Given the description of an element on the screen output the (x, y) to click on. 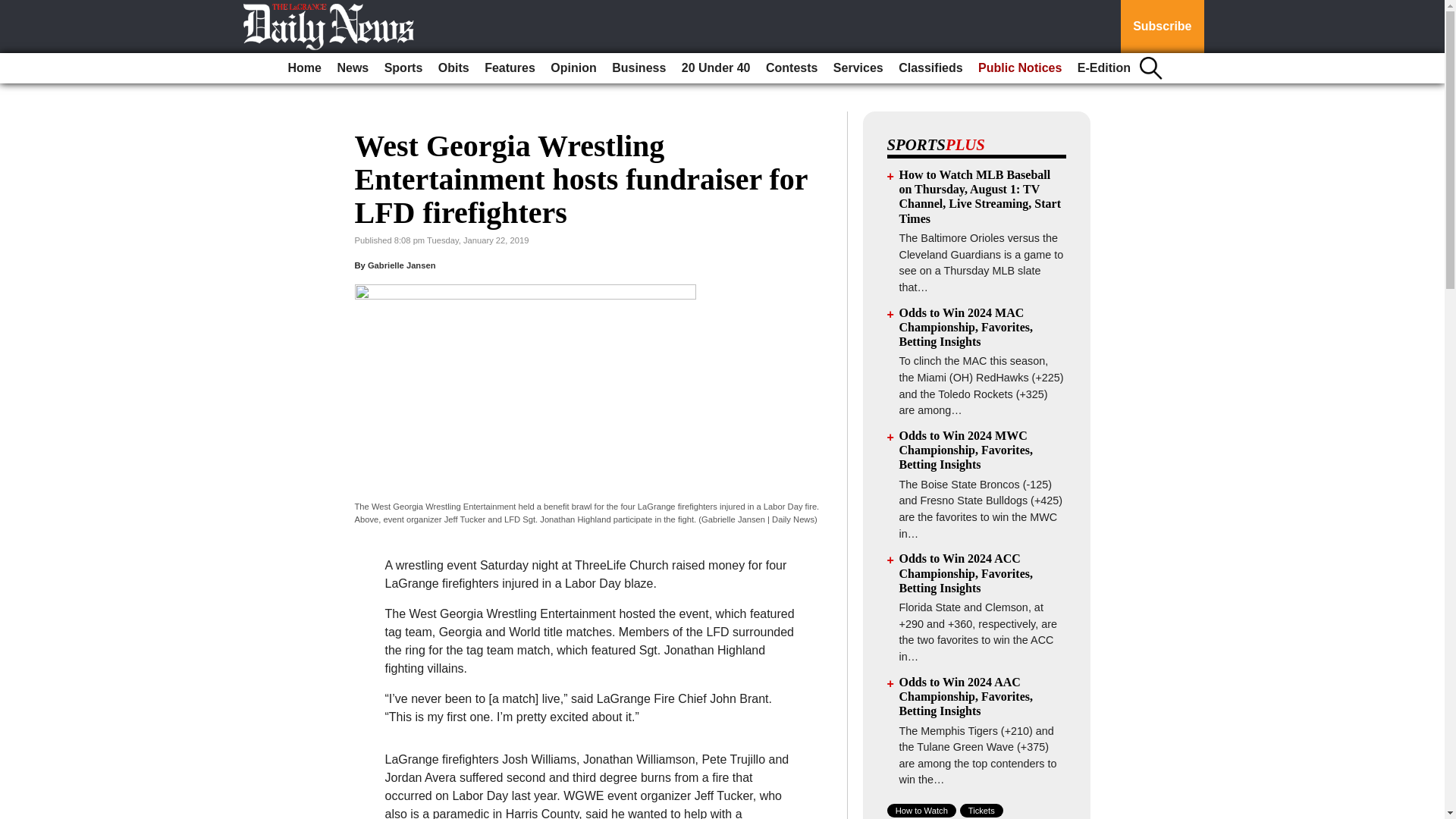
20 Under 40 (716, 68)
Classifieds (930, 68)
How to Watch (921, 810)
Tickets (981, 810)
Business (638, 68)
Features (510, 68)
Public Notices (1019, 68)
Sports (403, 68)
Services (858, 68)
Go (13, 9)
Opinion (573, 68)
News (352, 68)
Obits (454, 68)
Subscribe (1162, 26)
